Given the description of an element on the screen output the (x, y) to click on. 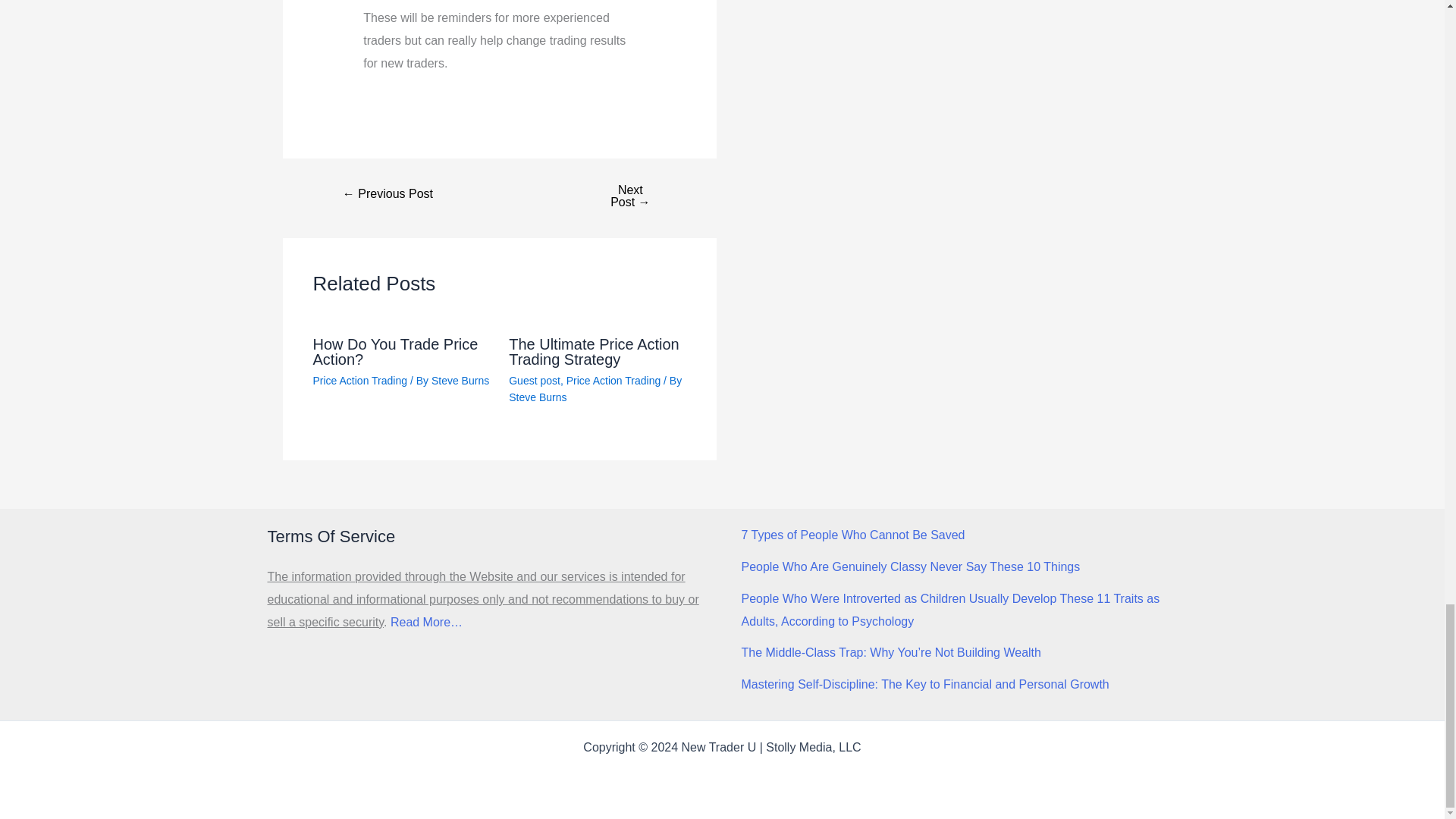
20 Laws of Part Time Trading (630, 196)
View all posts by Steve Burns (459, 380)
View all posts by Steve Burns (537, 397)
